Given the description of an element on the screen output the (x, y) to click on. 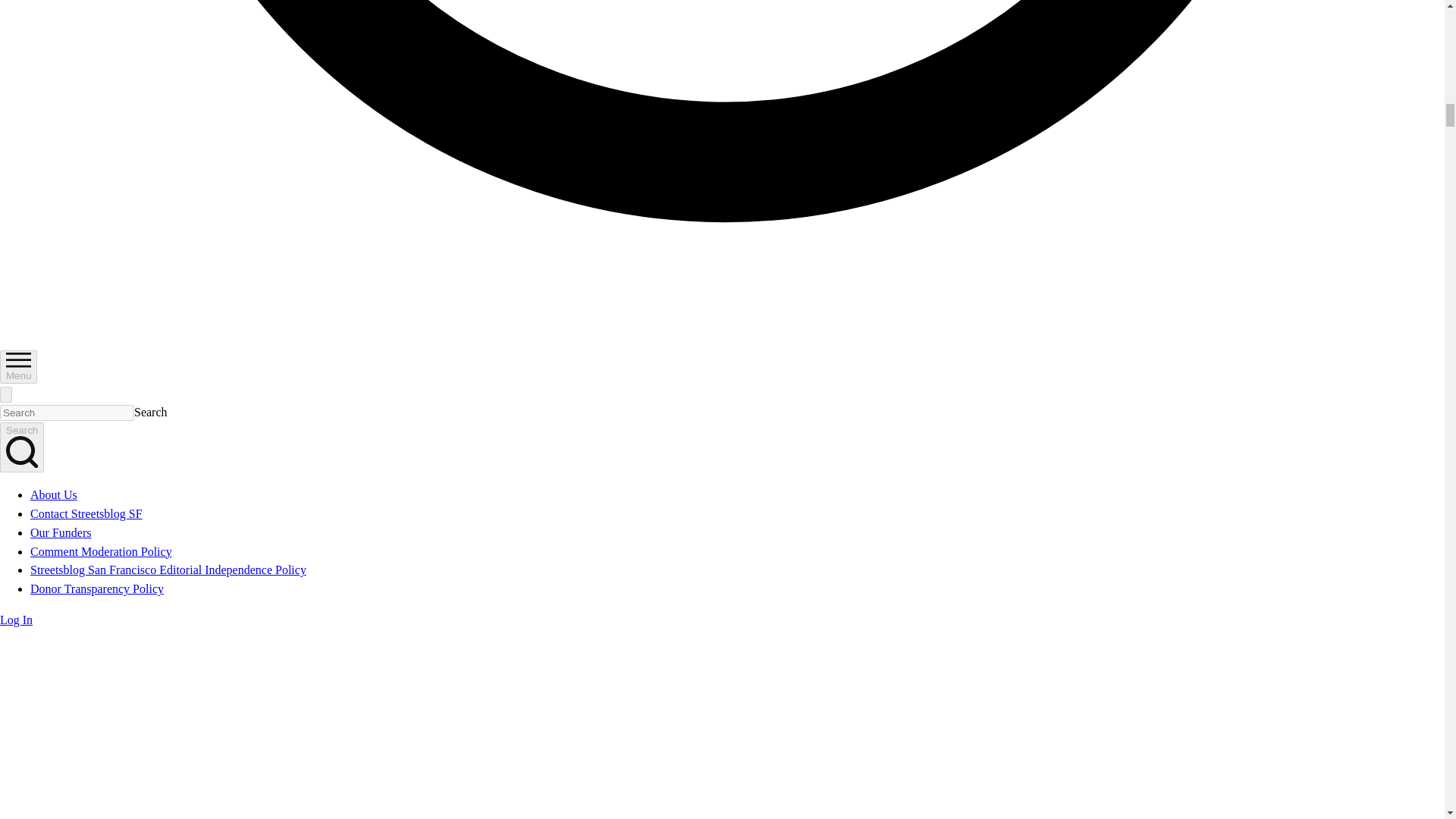
About Us (53, 494)
Streetsblog San Francisco Editorial Independence Policy (167, 569)
Menu (18, 366)
Donor Transparency Policy (96, 588)
Contact Streetsblog SF (86, 513)
Our Funders (60, 532)
Comment Moderation Policy (100, 551)
